Given the description of an element on the screen output the (x, y) to click on. 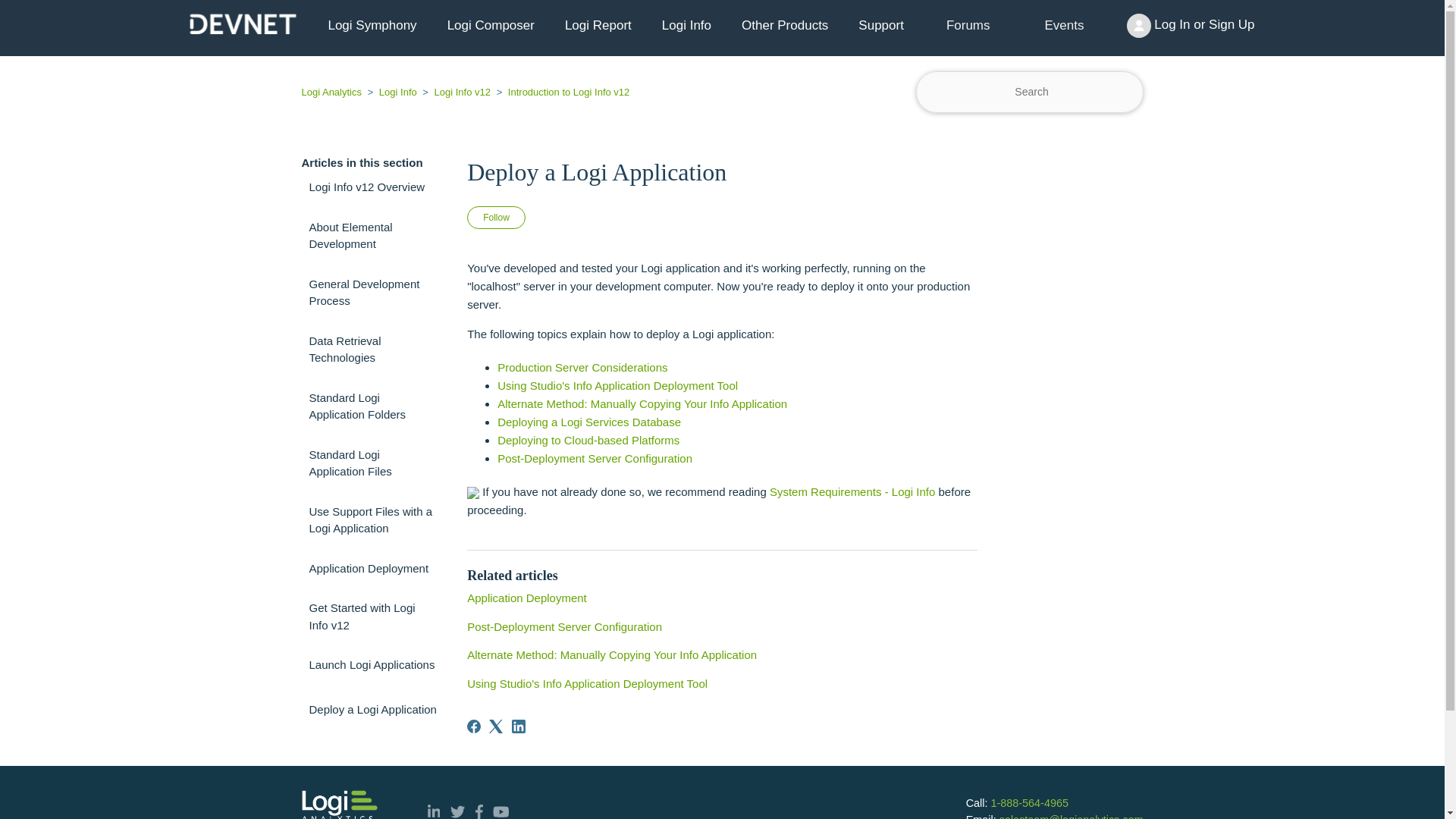
Log In or Sign Up (1190, 25)
Support (880, 25)
Forums (968, 24)
Other Products (784, 25)
Deploy a Logi Application (373, 708)
Introduction to Logi Info v12 (561, 91)
Deploy a Logi Application (721, 171)
Logi Analytics (333, 91)
Logi Symphony (371, 25)
Events (1064, 24)
